Given the description of an element on the screen output the (x, y) to click on. 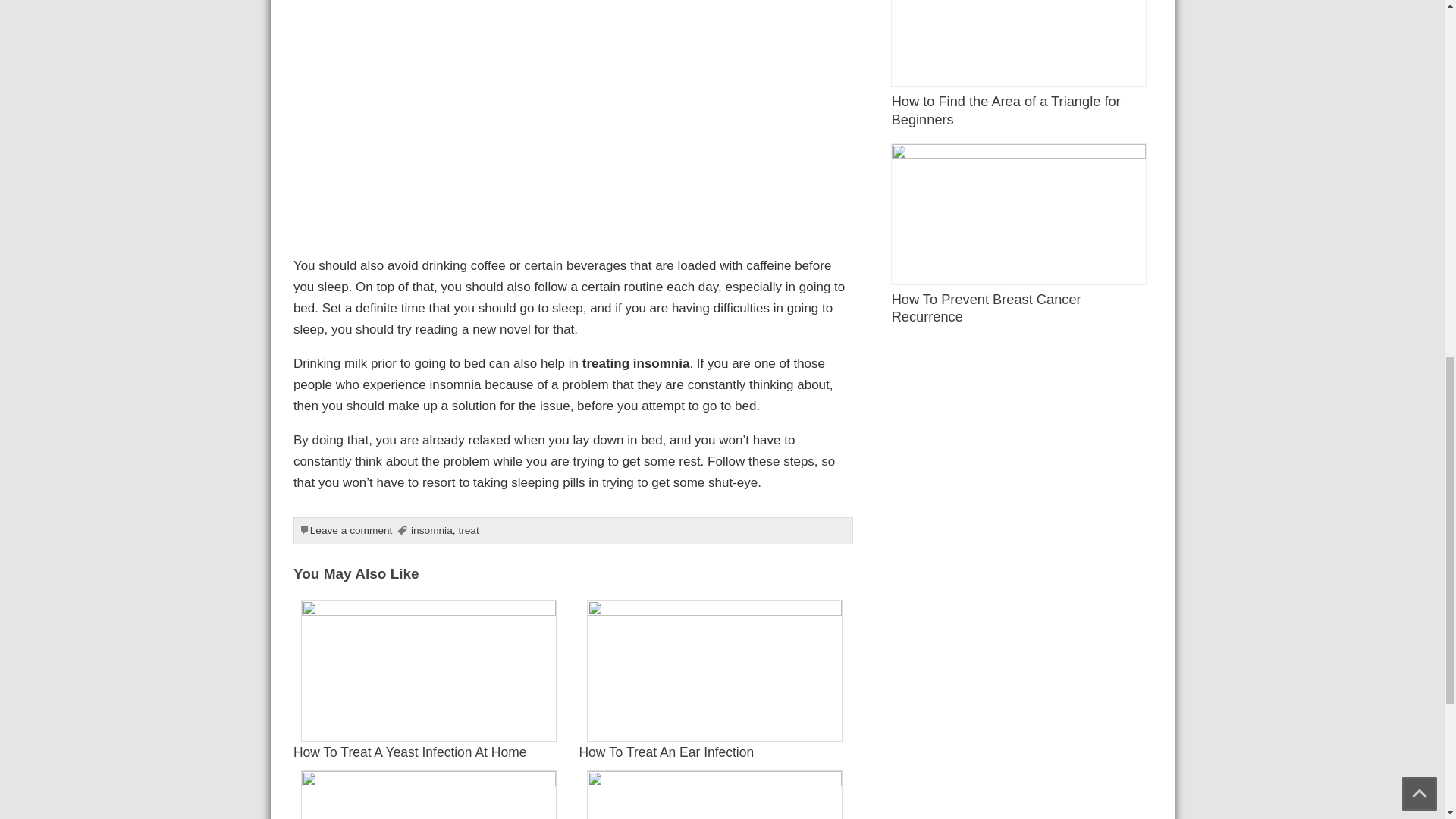
How To Prevent Breast Cancer Recurrence (986, 308)
How To Prevent Breast Cancer Recurrence (1021, 225)
How to Find the Area of a Triangle for Beginners (1006, 110)
How to Find the Area of a Triangle for Beginners (1021, 54)
